Given the description of an element on the screen output the (x, y) to click on. 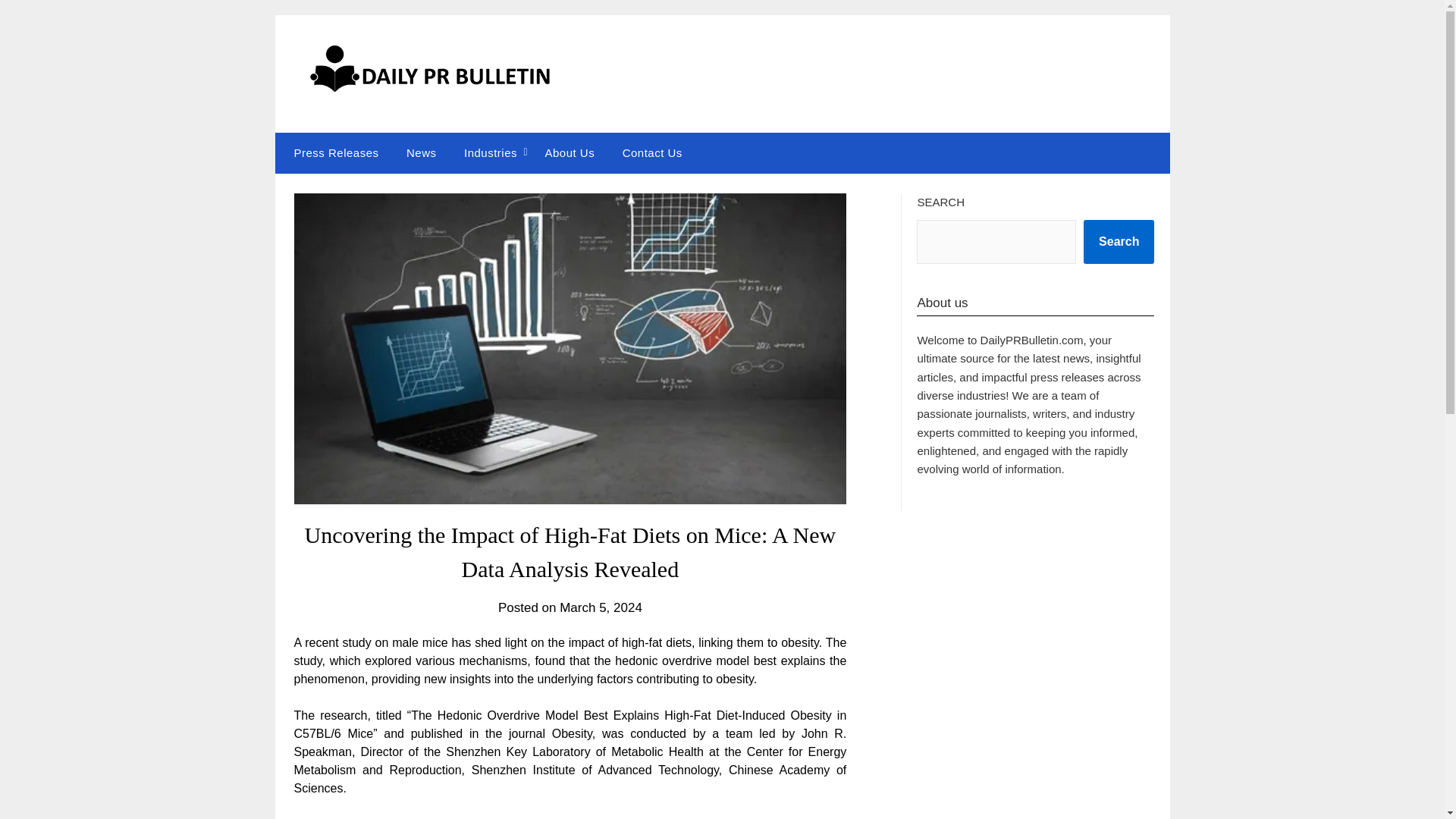
Press Releases (332, 152)
Industries (490, 152)
Contact Us (652, 152)
About Us (569, 152)
Search (1118, 241)
News (421, 152)
